Given the description of an element on the screen output the (x, y) to click on. 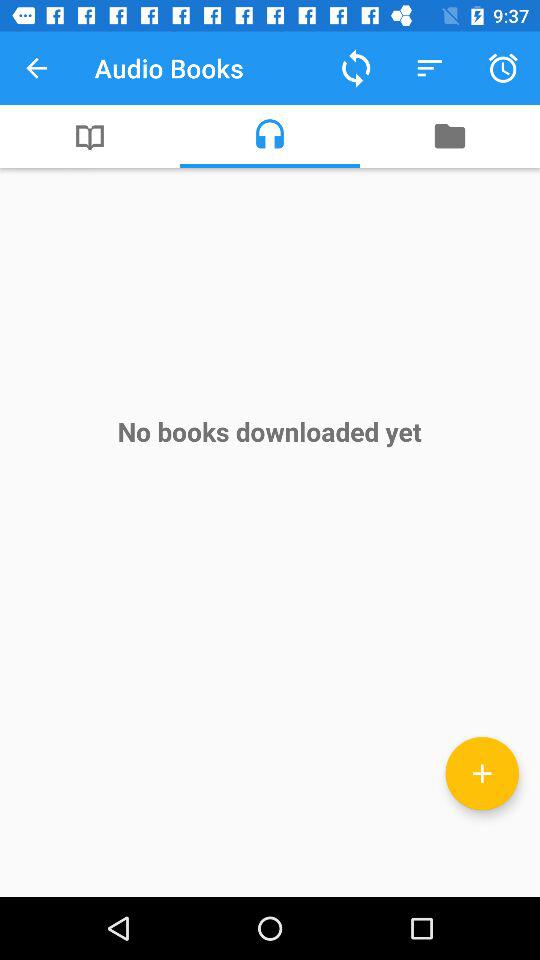
tap icon above the no books downloaded (270, 136)
